Given the description of an element on the screen output the (x, y) to click on. 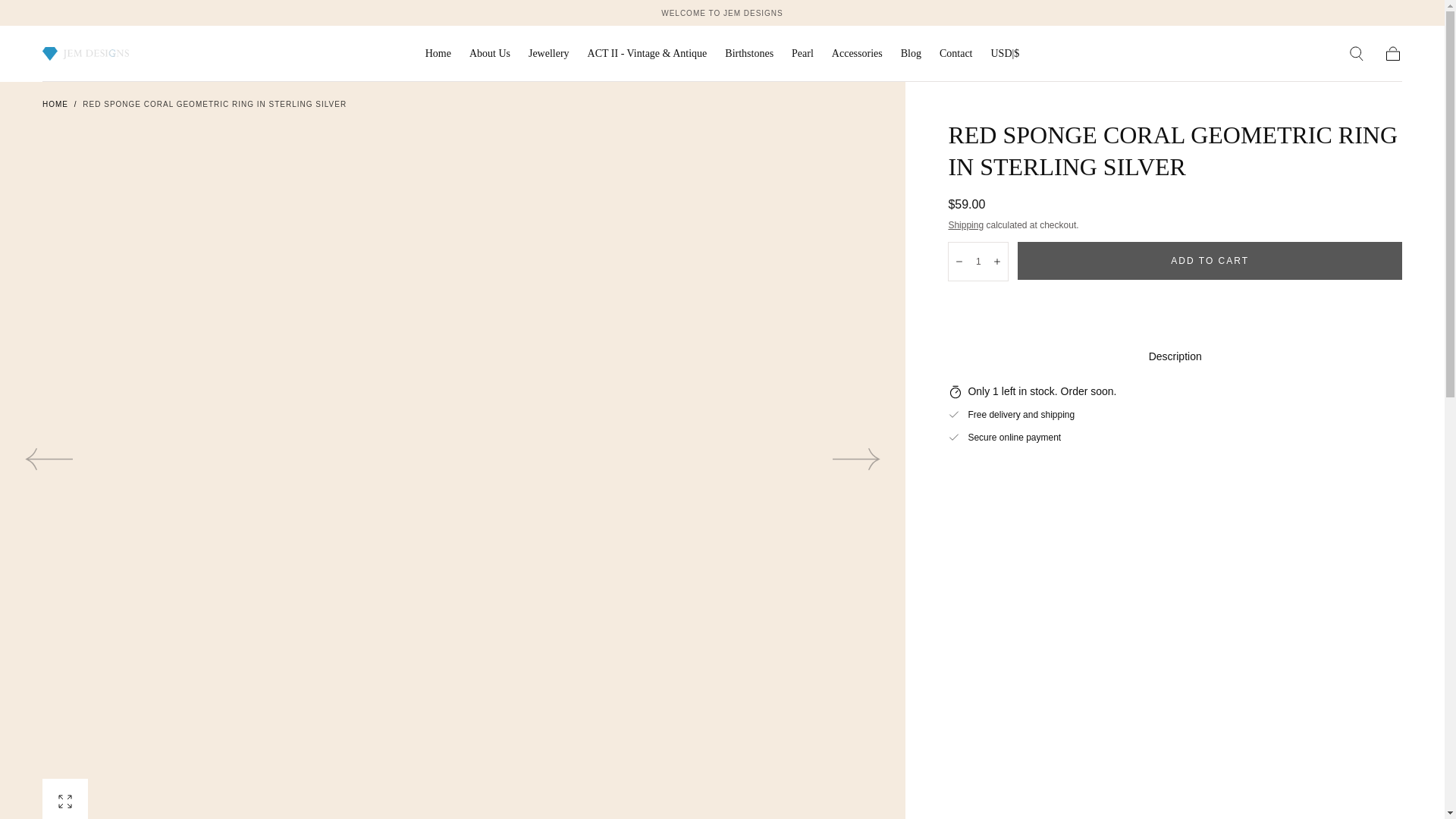
Cart (1393, 54)
WELCOME TO JEM DESIGNS (722, 13)
All products (722, 13)
SKIP TO CONTENT (67, 18)
